Given the description of an element on the screen output the (x, y) to click on. 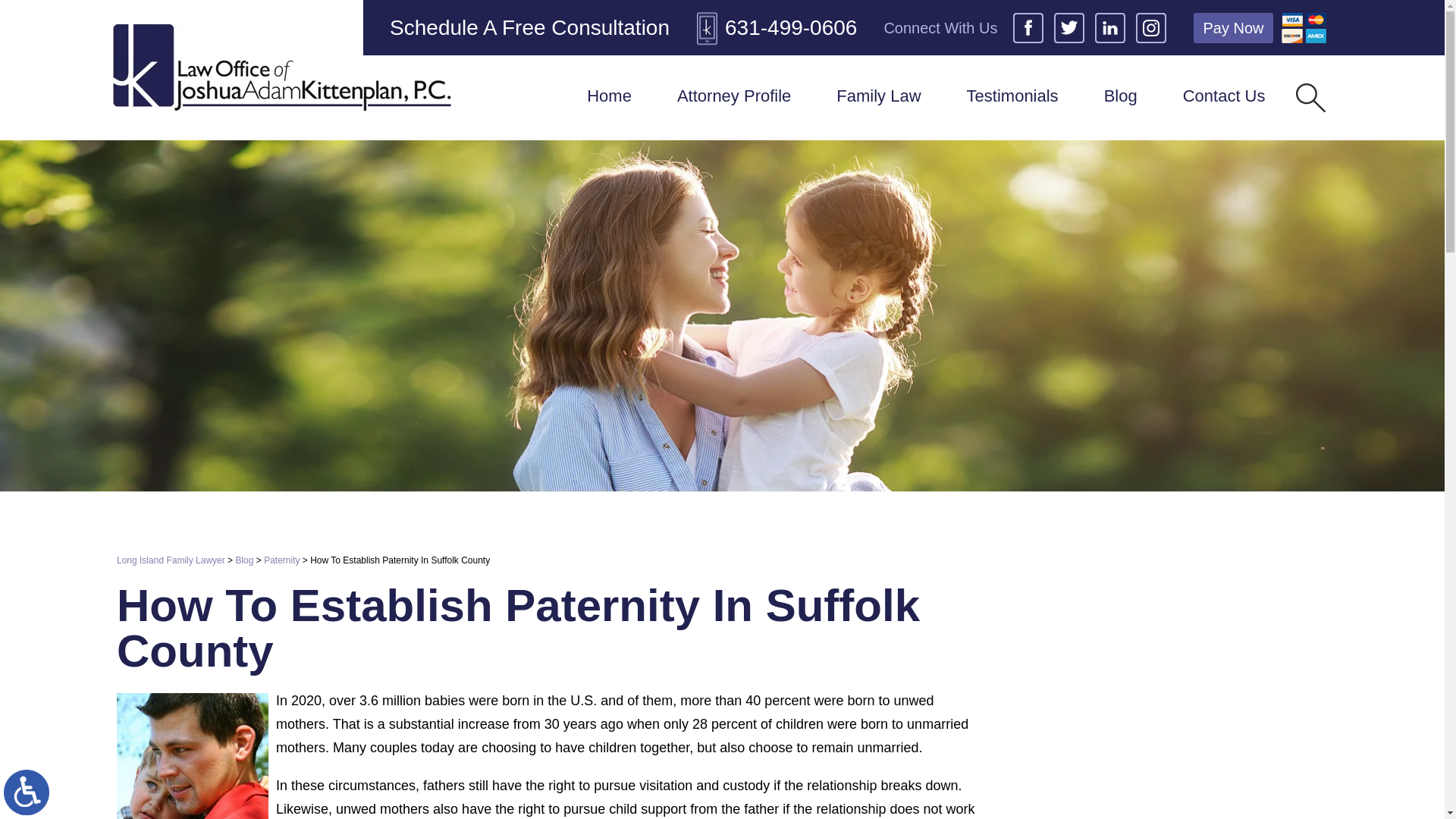
Attorney Profile (733, 96)
Pay Now (1232, 27)
FatherSon (191, 755)
Family Law (878, 96)
Home (608, 96)
Testimonials (1012, 96)
631-499-0606 (776, 26)
Switch to ADA Accessible Website (26, 791)
